Given the description of an element on the screen output the (x, y) to click on. 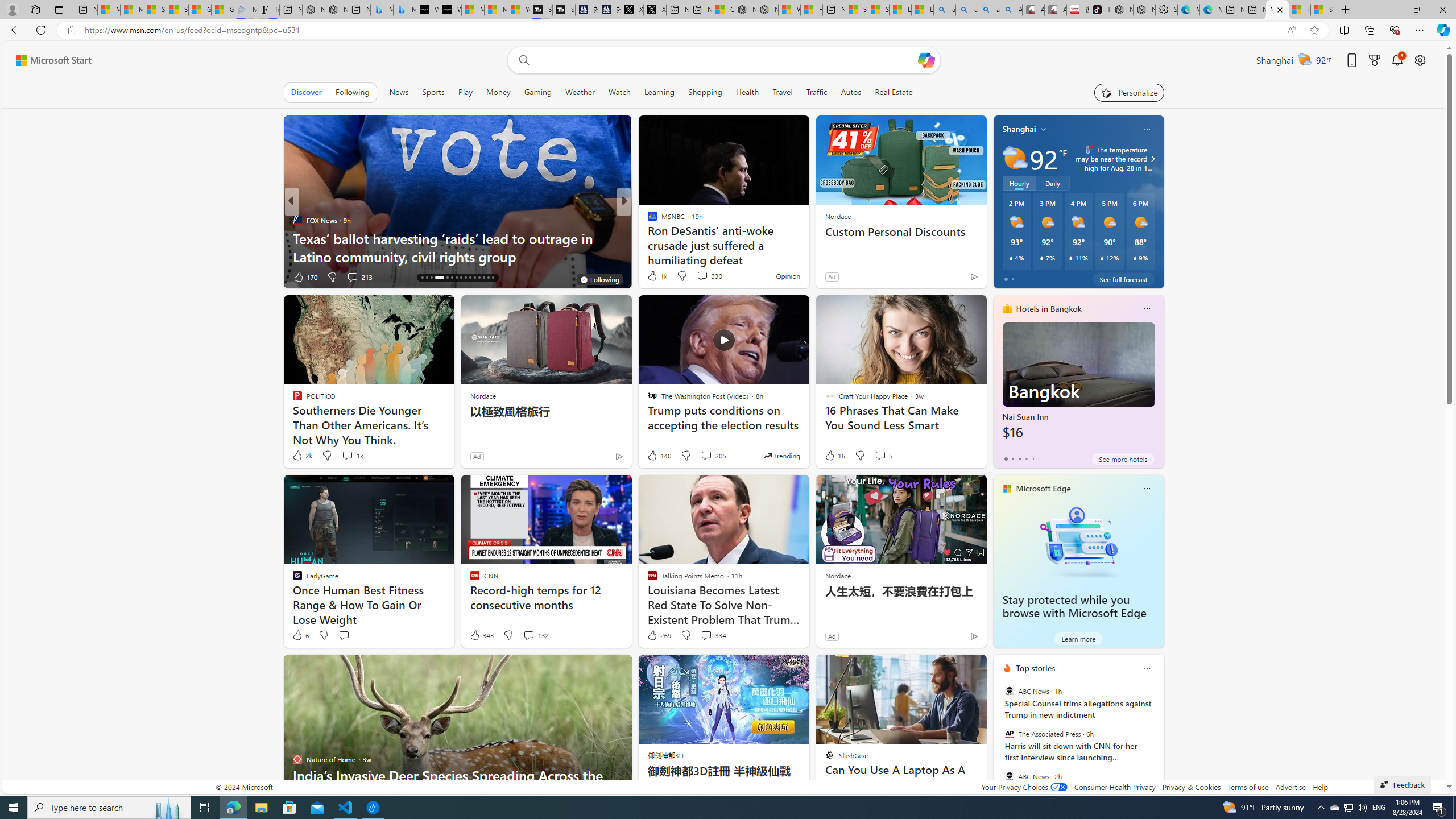
The Atlantic (647, 219)
Stacker (647, 219)
The words and phrases you should never use in work emails (807, 247)
Learning (659, 92)
Help (1320, 786)
18 Ways to Tank Your Respect: Behaviors That Turn People Off (807, 247)
View comments 1k Comment (346, 455)
Shanghai (1018, 128)
Settings (1166, 9)
